Given the description of an element on the screen output the (x, y) to click on. 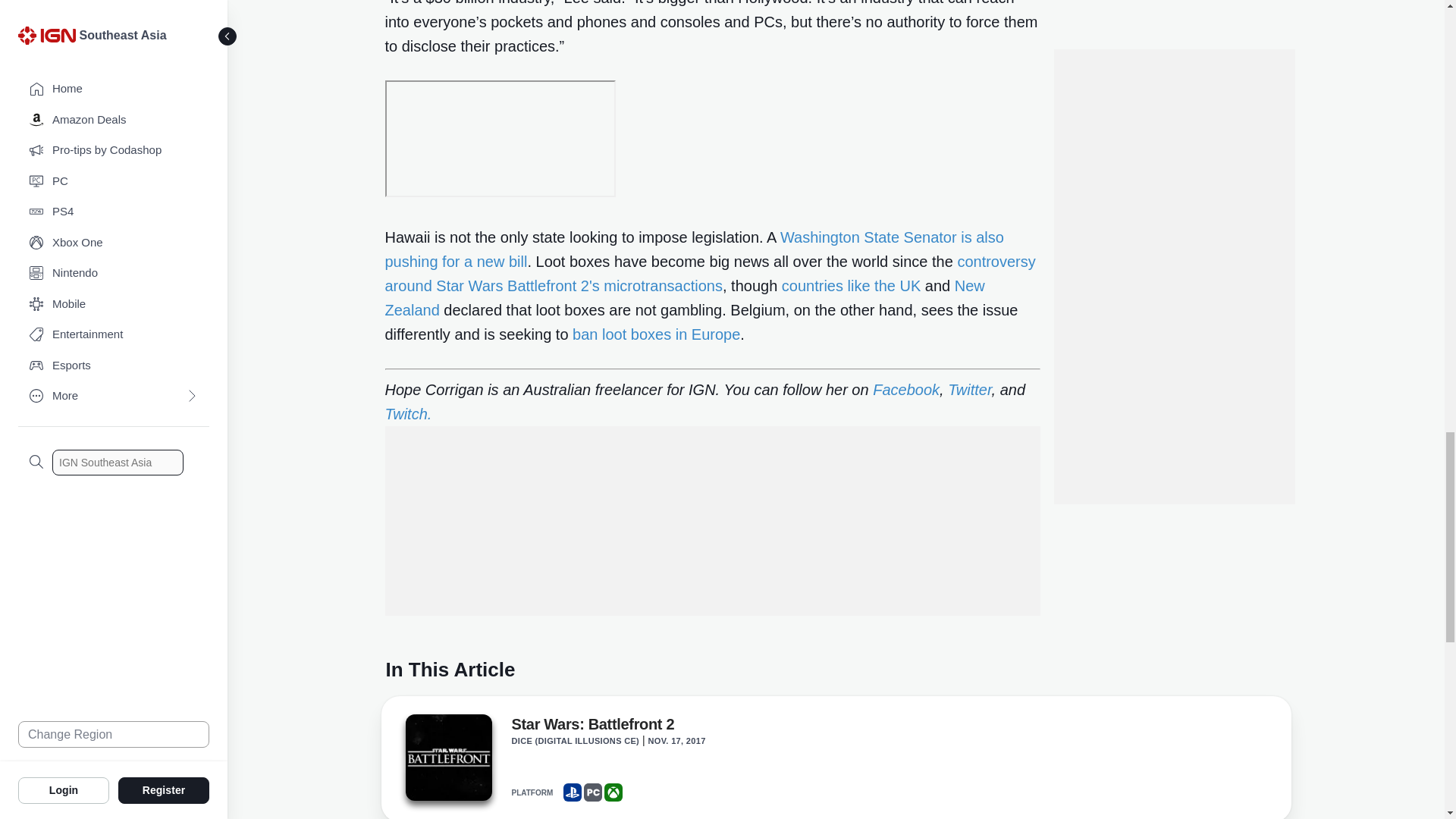
Star Wars: Battlefront 2 (592, 726)
PS4 (571, 791)
XBOXONE (613, 791)
PC (592, 791)
Star Wars: Battlefront 2 (448, 757)
Star Wars: Battlefront 2 (448, 762)
